Given the description of an element on the screen output the (x, y) to click on. 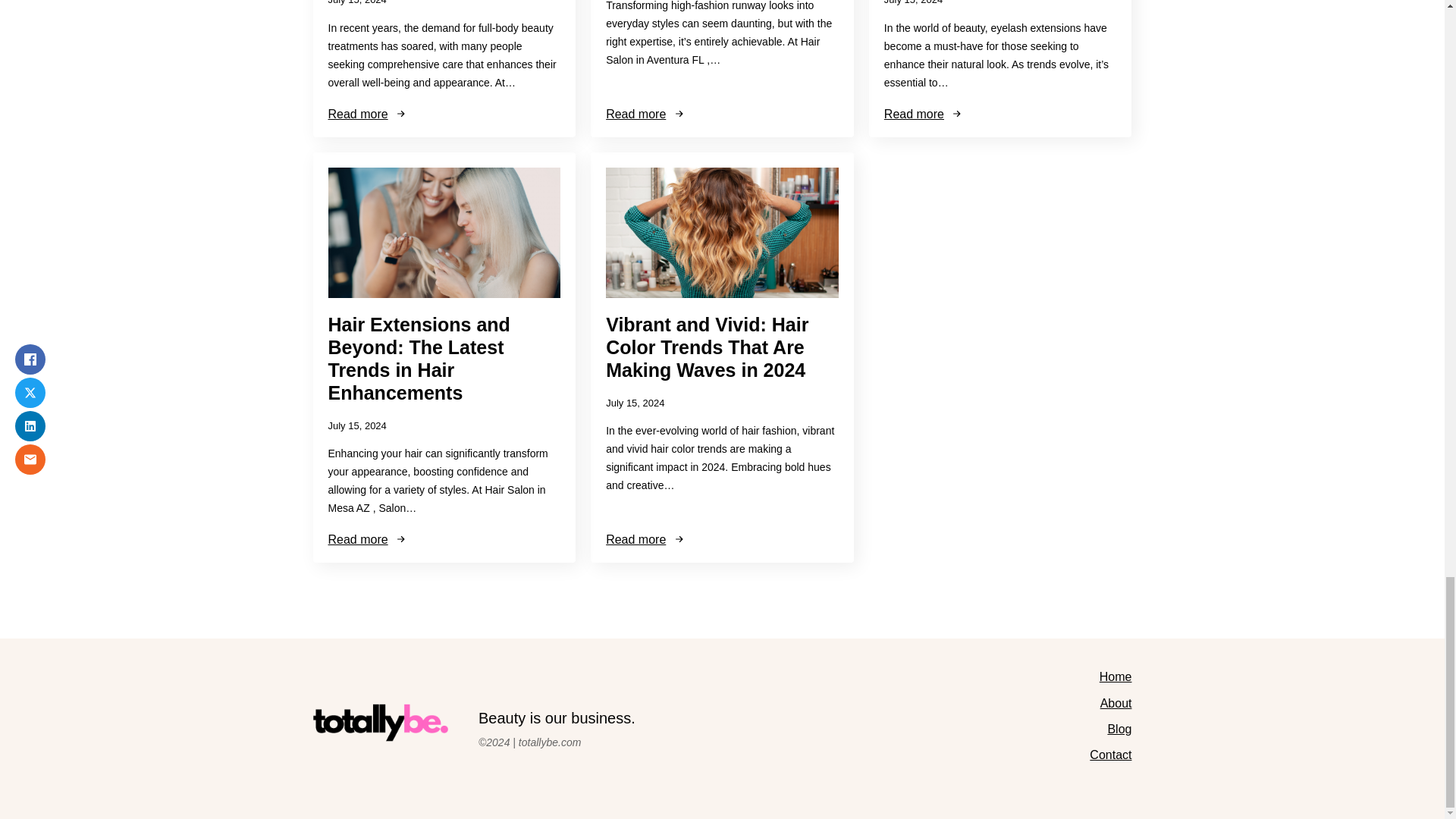
About (1116, 703)
Read more (645, 539)
Read more (367, 114)
Blog (1118, 729)
Read more (645, 114)
Home (1115, 677)
Read more (923, 114)
Read more (367, 539)
